Given the description of an element on the screen output the (x, y) to click on. 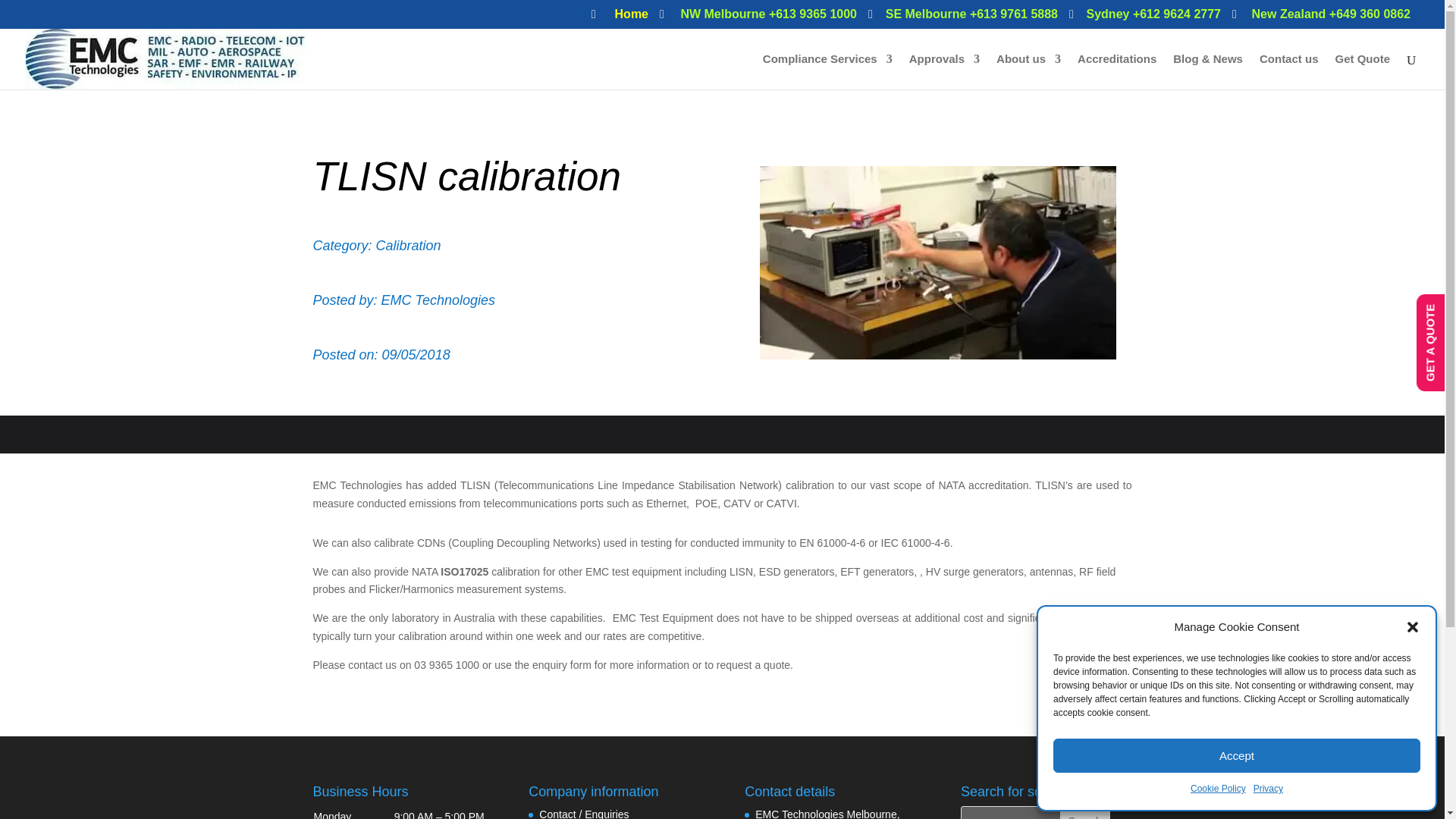
Accept (1236, 755)
Cookie Policy (1218, 789)
Compliance Services (827, 71)
Privacy (1267, 789)
Home (619, 18)
